Given the description of an element on the screen output the (x, y) to click on. 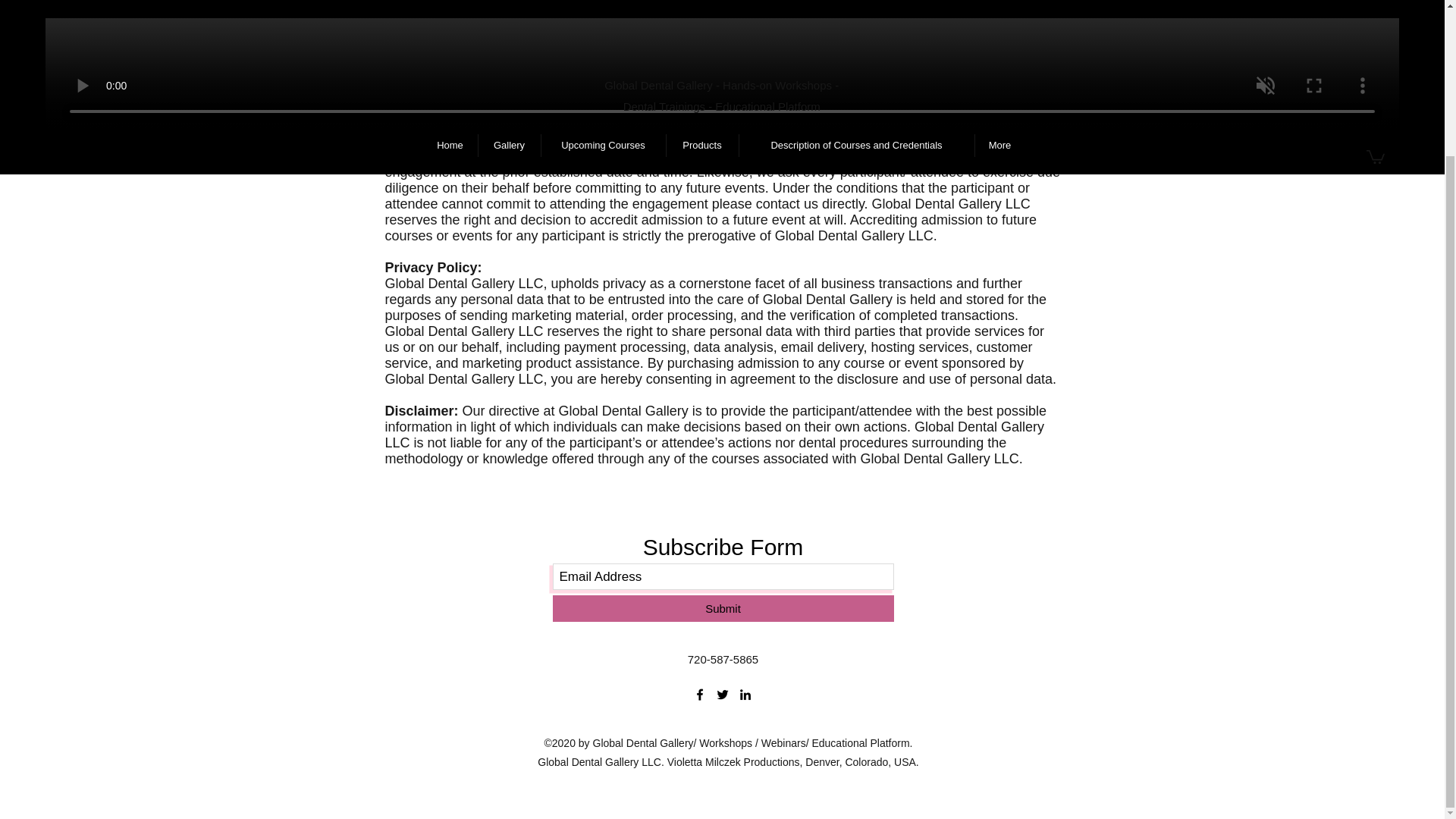
Submit (722, 608)
